Given the description of an element on the screen output the (x, y) to click on. 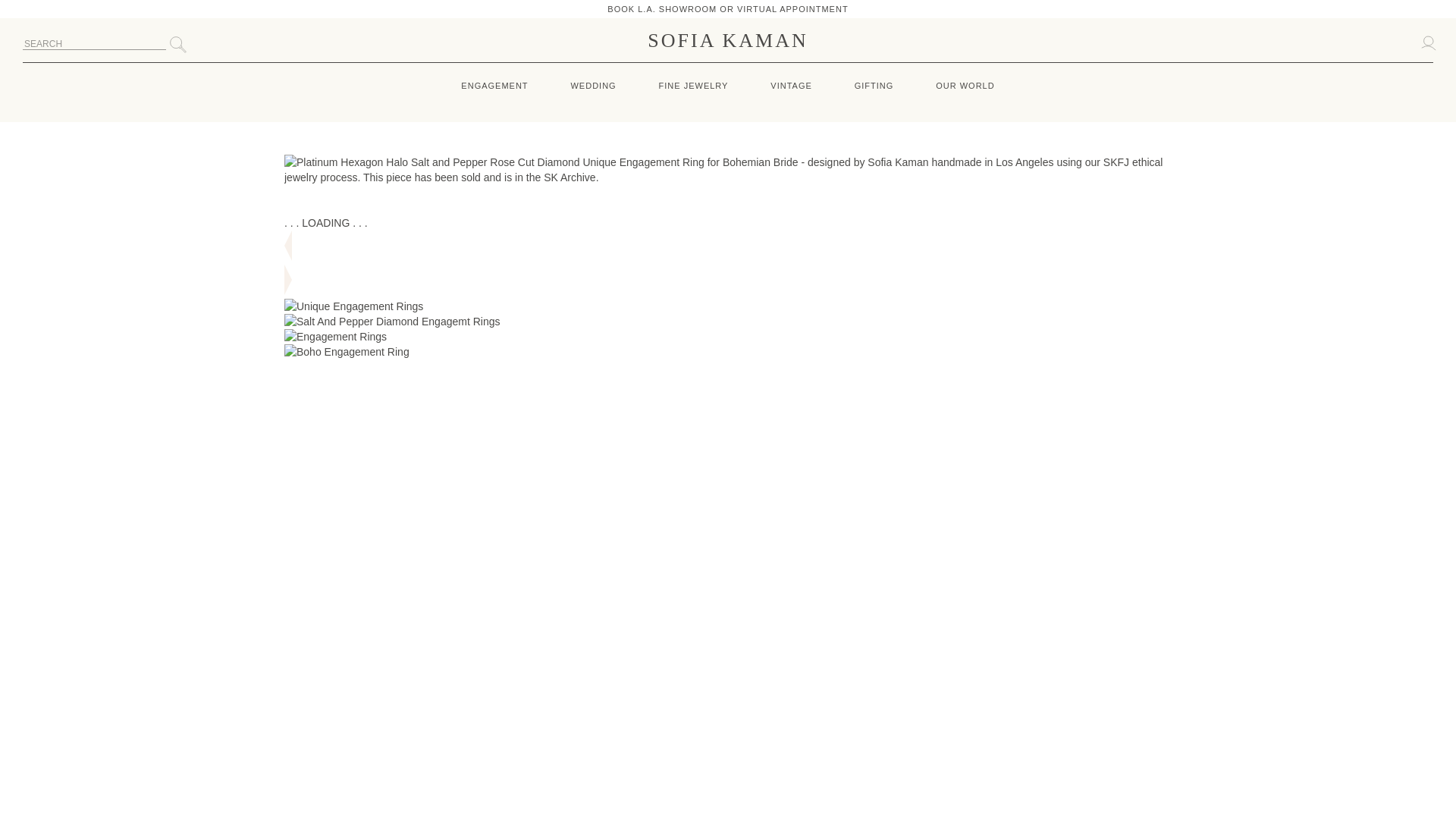
Hexagon Halo - Platinum (727, 169)
BOOK L.A. SHOWROOM OR VIRTUAL APPOINTMENT (727, 8)
Hexagon Halo - Platinum (335, 336)
Sign In (1428, 43)
Hexagon Halo - Platinum (391, 321)
Hexagon Halo - Platinum (346, 351)
SOFIA KAMAN (727, 42)
SEARCH (94, 43)
Hexagon Halo - Platinum (353, 305)
